Given the description of an element on the screen output the (x, y) to click on. 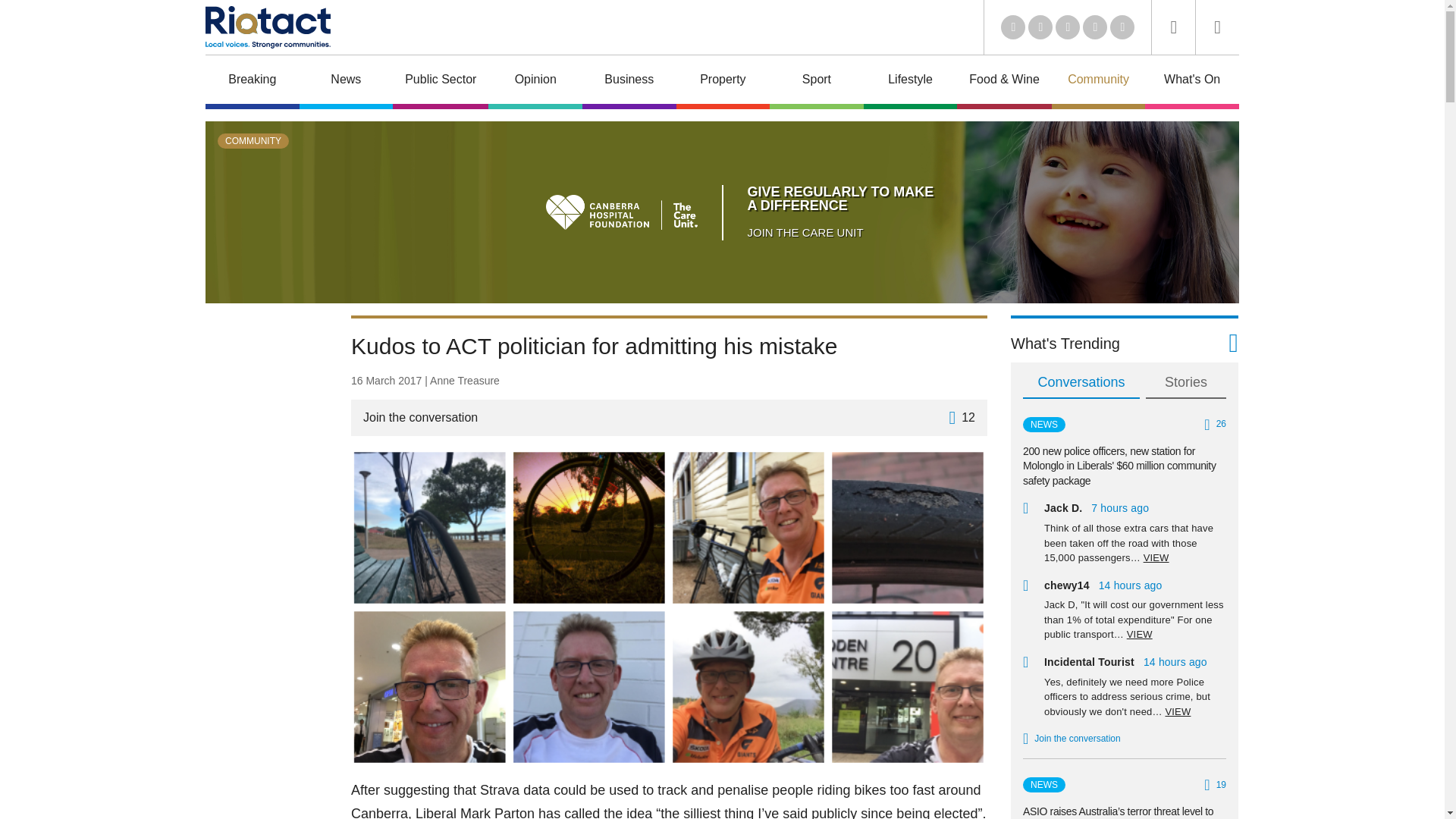
Twitter (1039, 27)
LinkedIn (1013, 27)
News (346, 81)
Youtube (1067, 27)
Riotact Home (267, 26)
Facebook (1094, 27)
Breaking (252, 81)
Instagram (1121, 27)
